Given the description of an element on the screen output the (x, y) to click on. 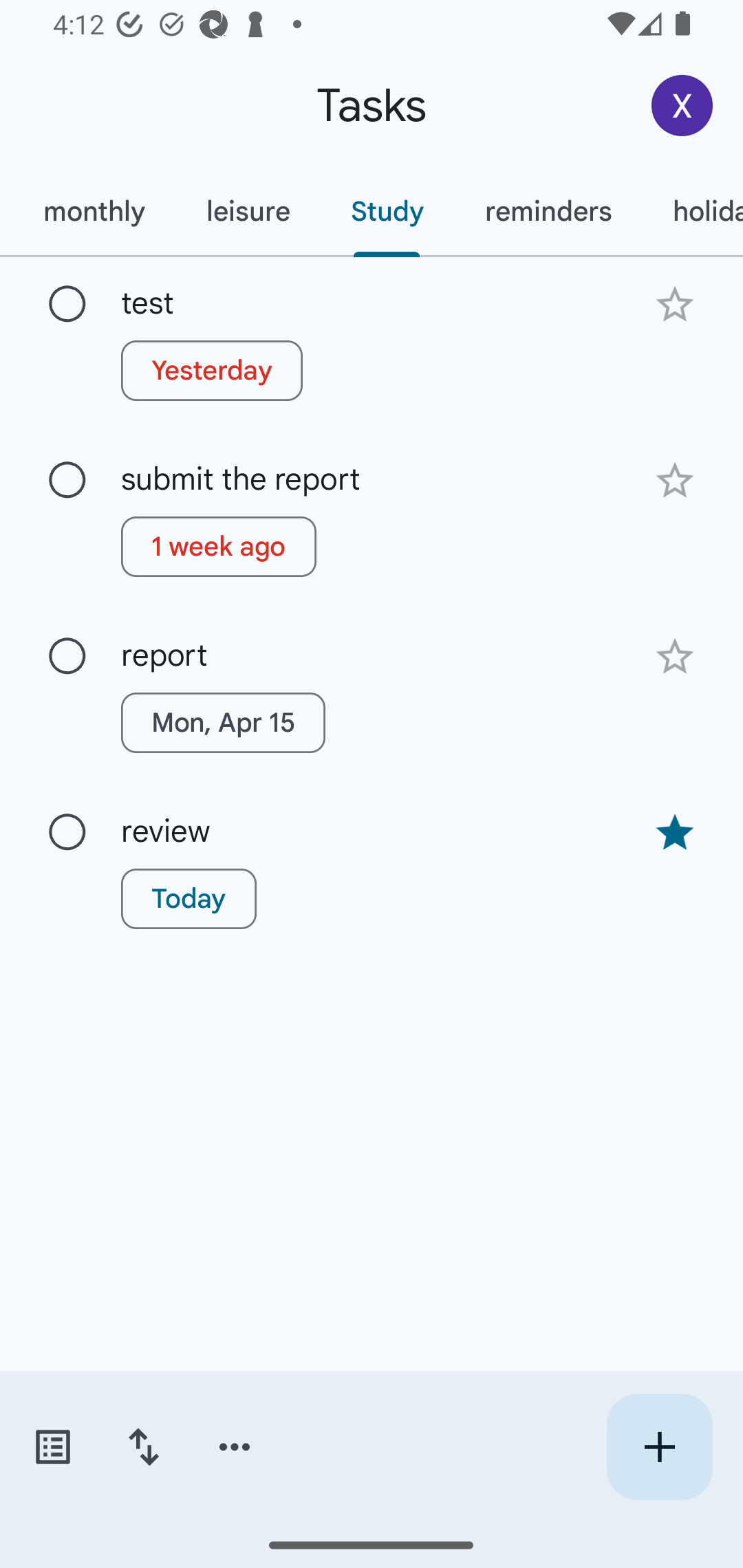
monthly (93, 211)
leisure (247, 211)
reminders (547, 211)
holiday planning (692, 211)
Add star (674, 303)
Mark as complete (67, 304)
Yesterday (211, 369)
Add star (674, 480)
Mark as complete (67, 480)
1 week ago (218, 546)
Add star (674, 656)
Mark as complete (67, 655)
Mon, Apr 15 (223, 722)
Remove star (674, 832)
Mark as complete (67, 833)
Today (188, 897)
Switch task lists (52, 1447)
Create new task (659, 1446)
Change sort order (143, 1446)
More options (234, 1446)
